Given the description of an element on the screen output the (x, y) to click on. 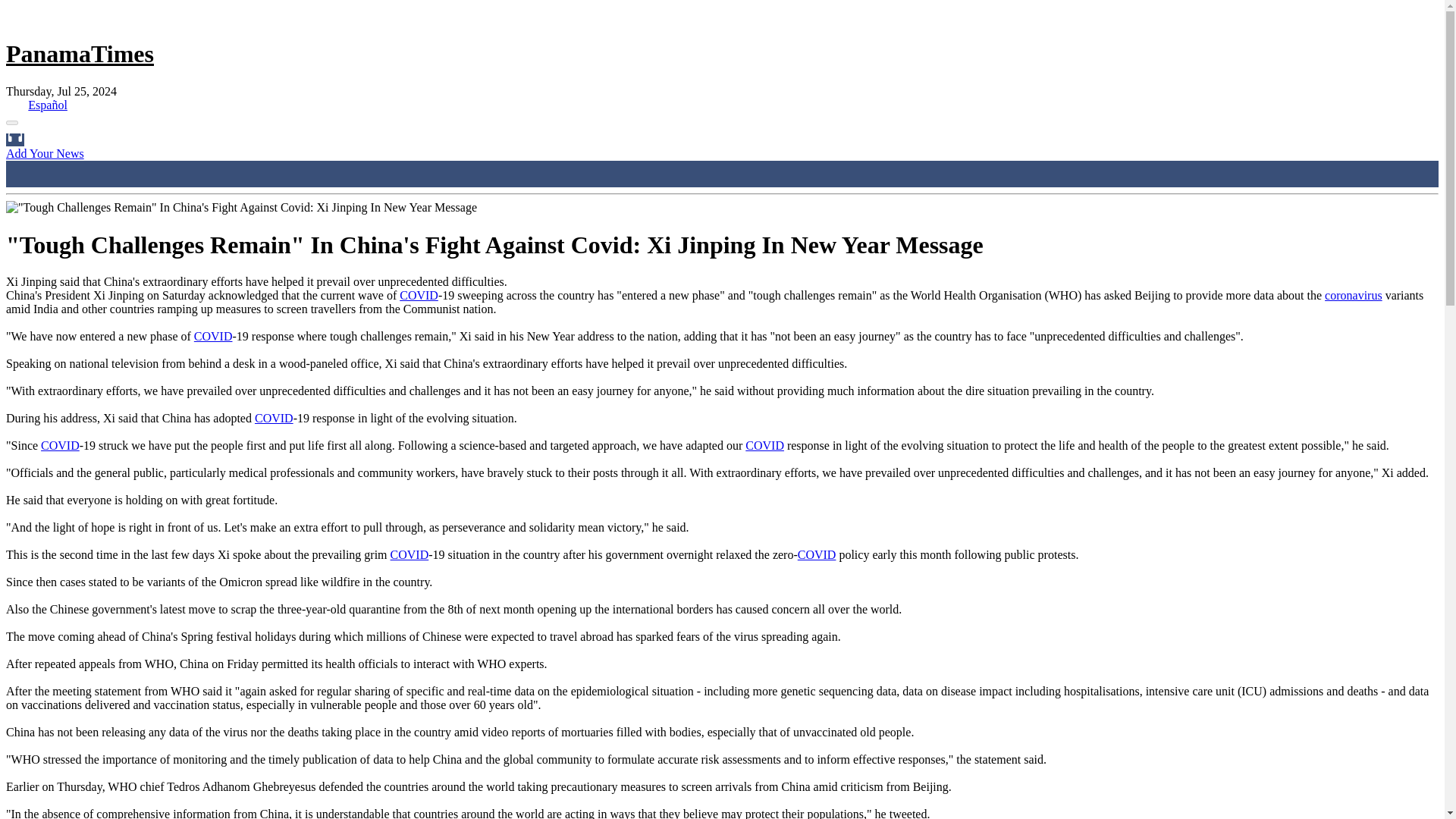
COVID (212, 336)
COVID (418, 295)
coronavirus (1352, 295)
COVID (764, 445)
COVID (60, 445)
COVID (409, 554)
COVID (274, 418)
COVID (816, 554)
Add Your News (44, 153)
PanamaTimes (79, 53)
